Given the description of an element on the screen output the (x, y) to click on. 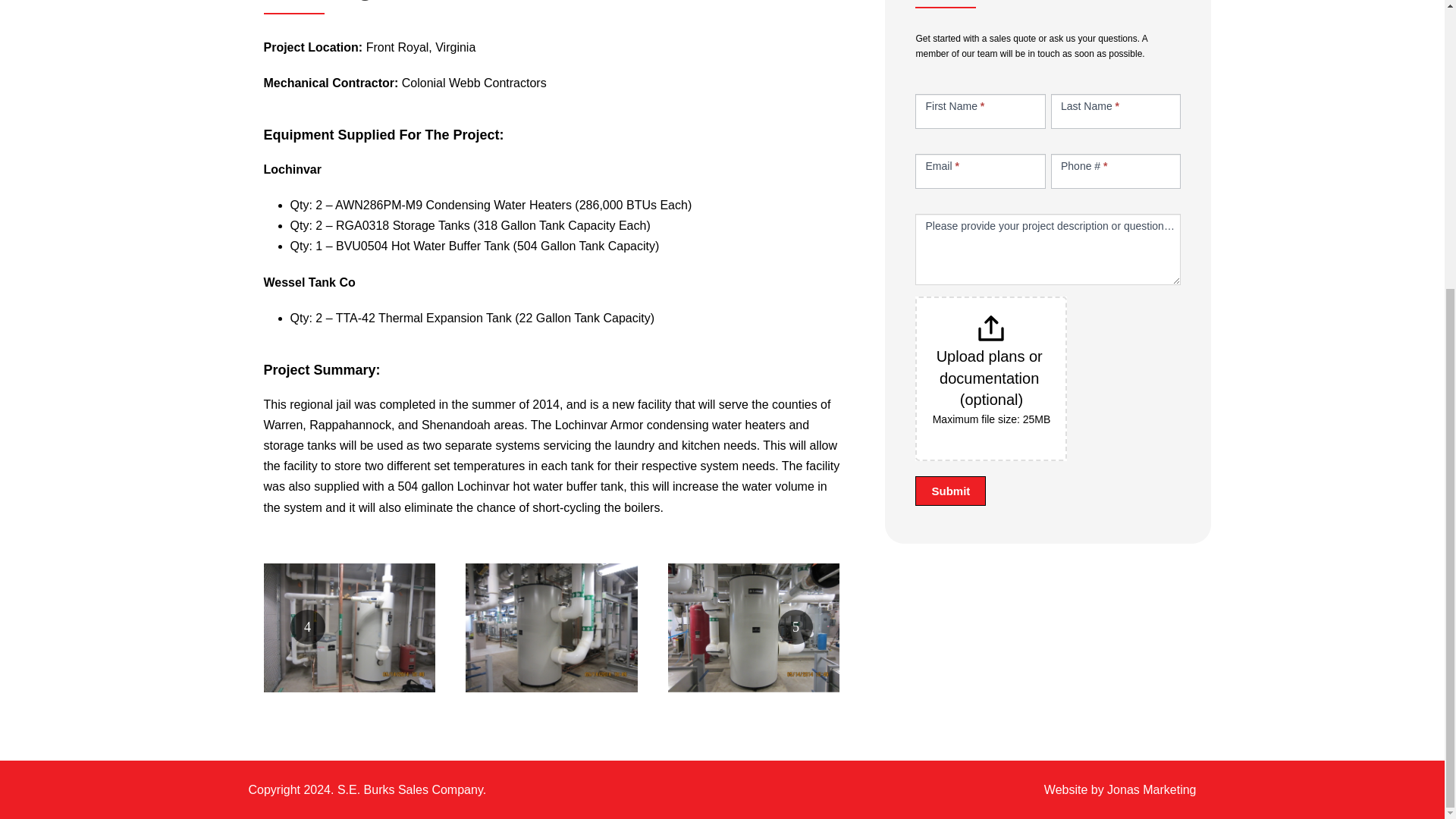
RSW-Jail-2 (551, 627)
Submit (950, 490)
RSW-Jail-3 (754, 627)
Jonas Marketing (1150, 789)
RSW-Jail-1 (349, 627)
